Given the description of an element on the screen output the (x, y) to click on. 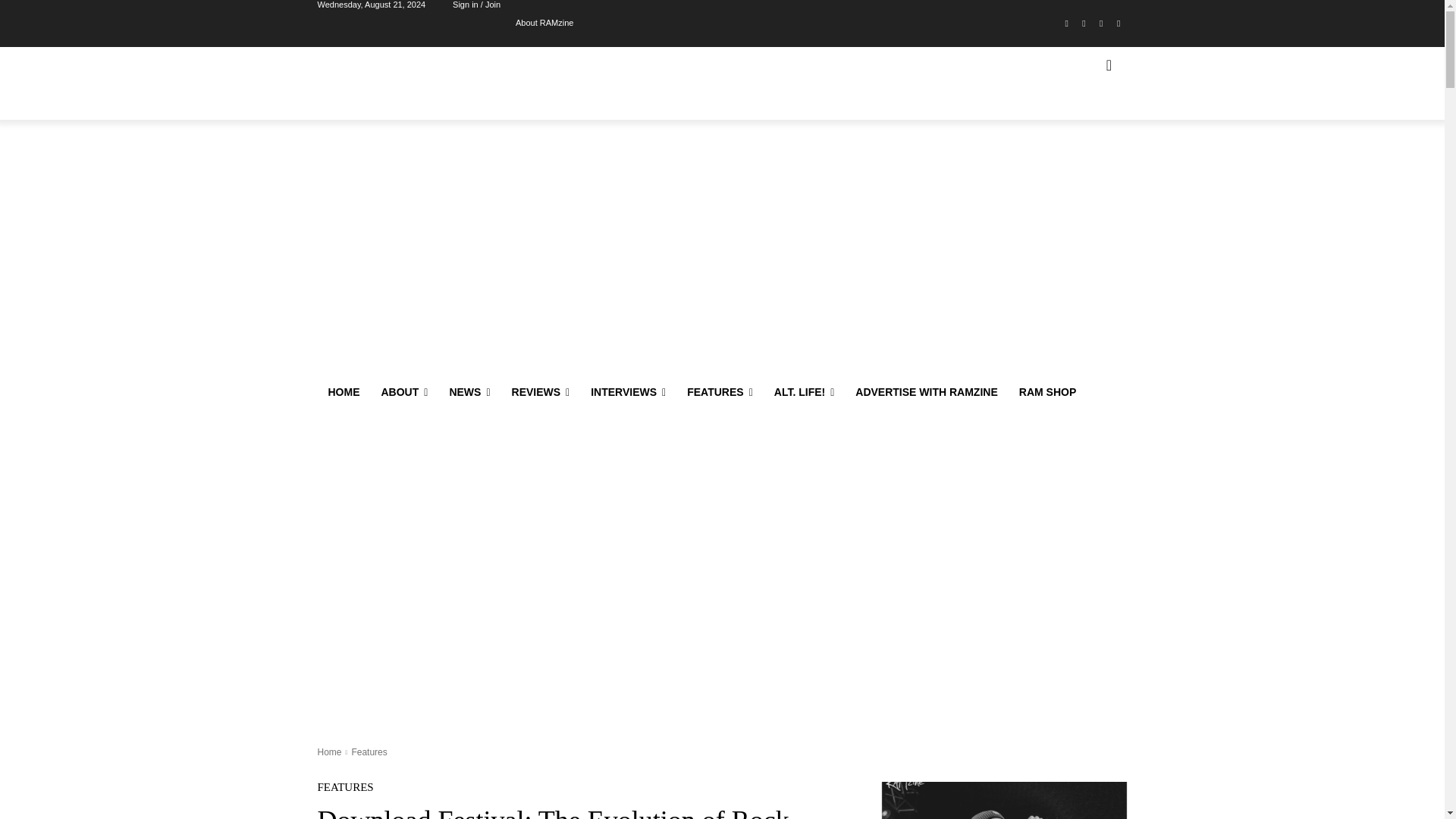
Facebook (1066, 23)
Instagram (1084, 23)
Twitter (1101, 23)
Youtube (1117, 23)
